Given the description of an element on the screen output the (x, y) to click on. 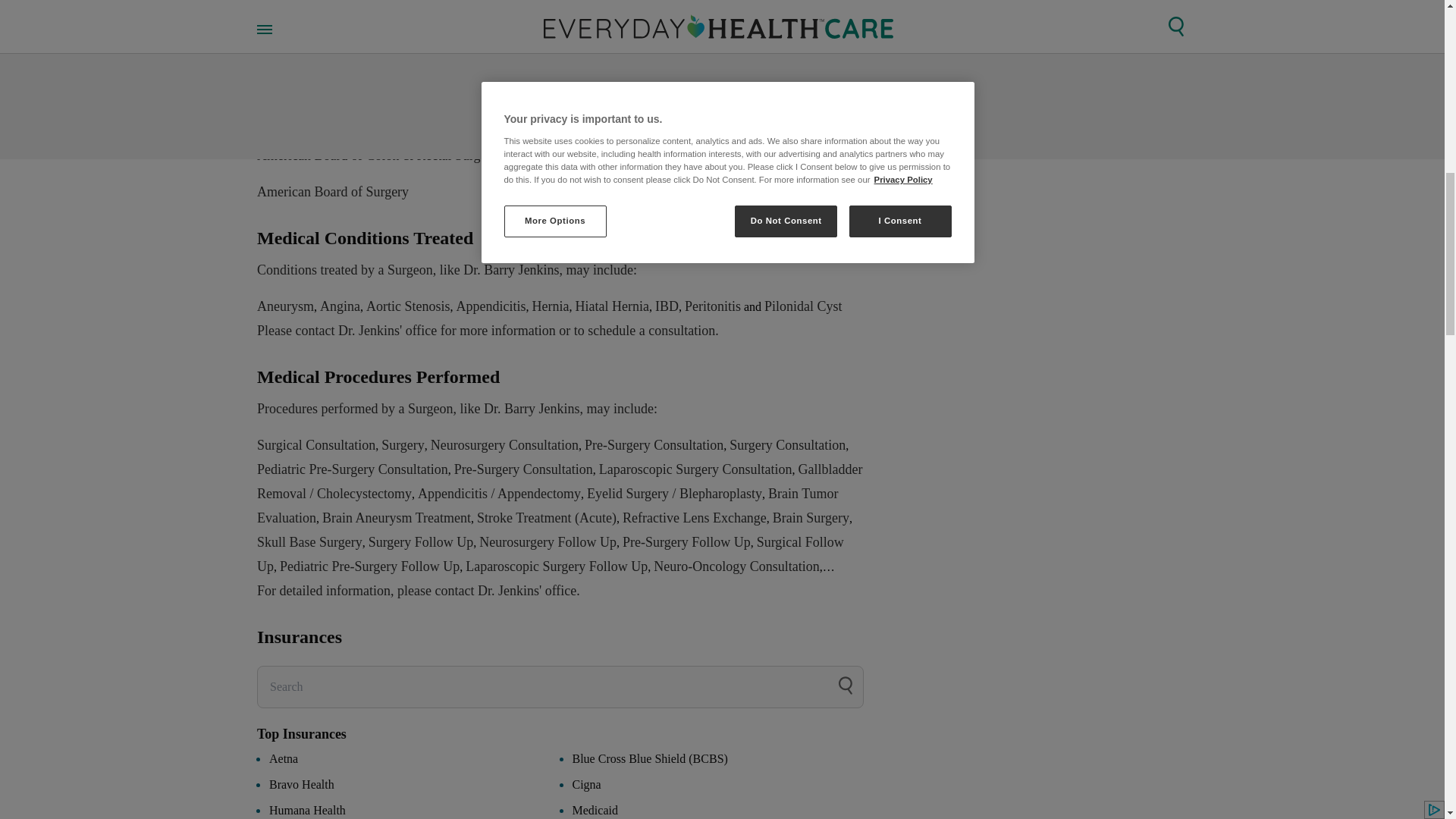
Surgical Consultation (316, 444)
Pre-Surgery Follow Up (687, 541)
Hiatal Hernia (611, 305)
Pre-Surgery Consultation (523, 468)
Surgery (403, 444)
Aneurysm (285, 305)
Surgery Consultation (787, 444)
Skull Base Surgery (309, 541)
Neurosurgery Consultation (504, 444)
Neurosurgery Follow Up (547, 541)
